Given the description of an element on the screen output the (x, y) to click on. 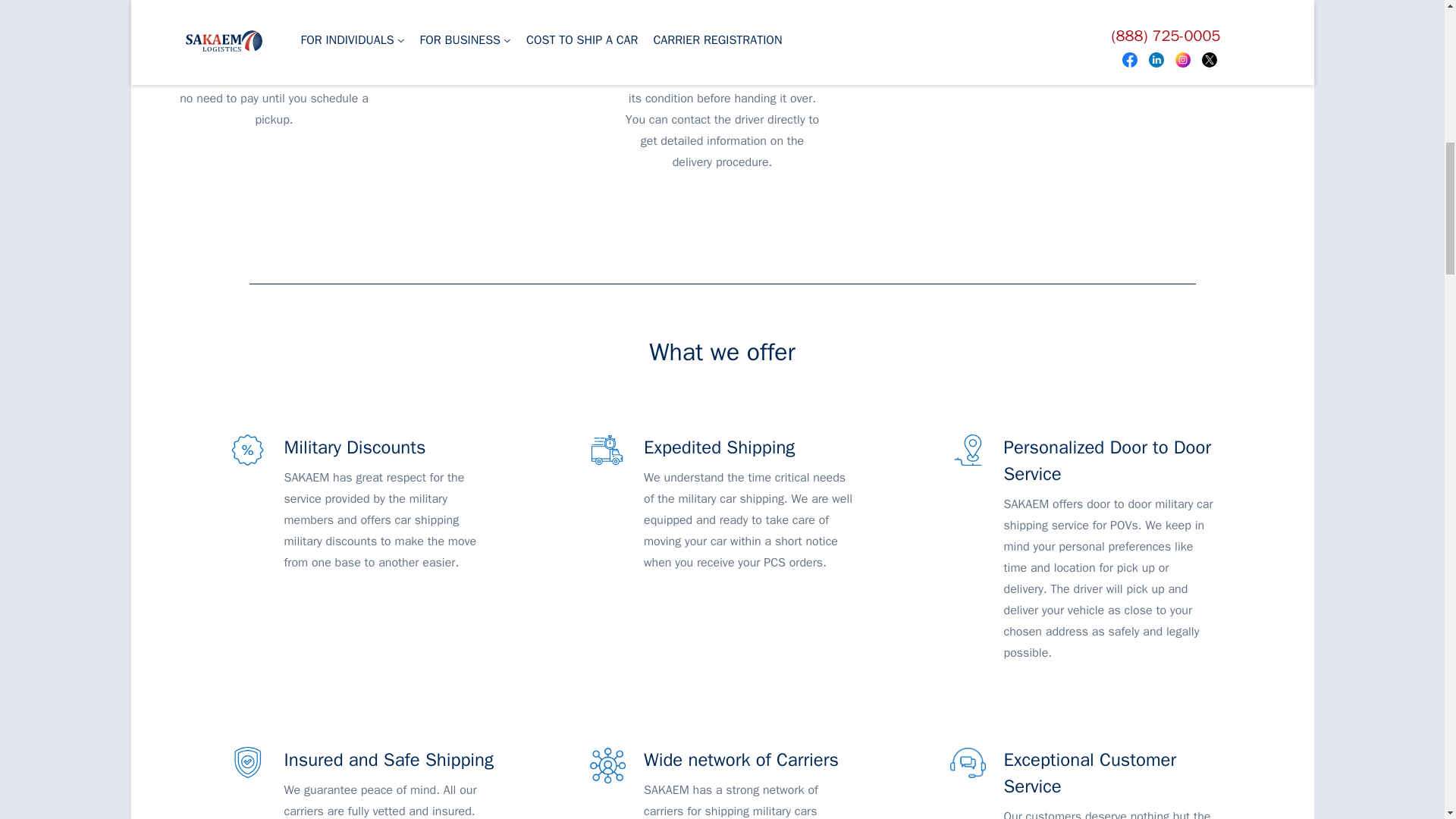
help (967, 762)
network (607, 764)
Insurance 2 (246, 762)
location 1 (967, 450)
truck fast (607, 450)
discount (246, 450)
